Given the description of an element on the screen output the (x, y) to click on. 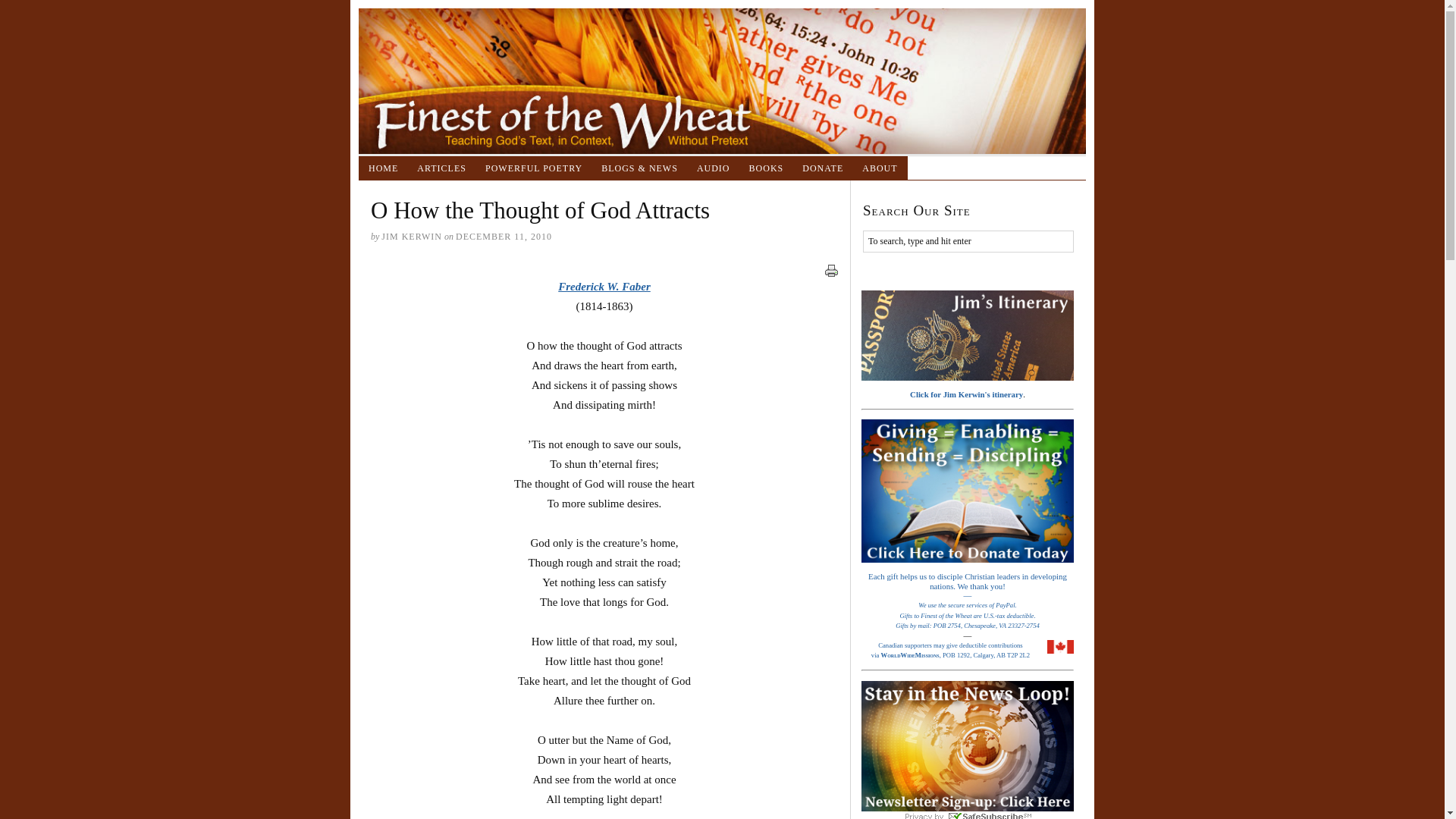
Click for Jim Kerwin's itinerary (967, 344)
AUDIO (713, 168)
POWERFUL POETRY (534, 168)
To search, type and hit enter (968, 241)
This link will take you to our Donations page. (967, 524)
Frederick W. Faber (603, 286)
Print this poem. (831, 270)
2010-12-11 (503, 235)
DONATE (823, 168)
A link to Jim Kerwin's itinerary (967, 335)
Bible teaching by author (441, 168)
BOOKS (766, 168)
